Given the description of an element on the screen output the (x, y) to click on. 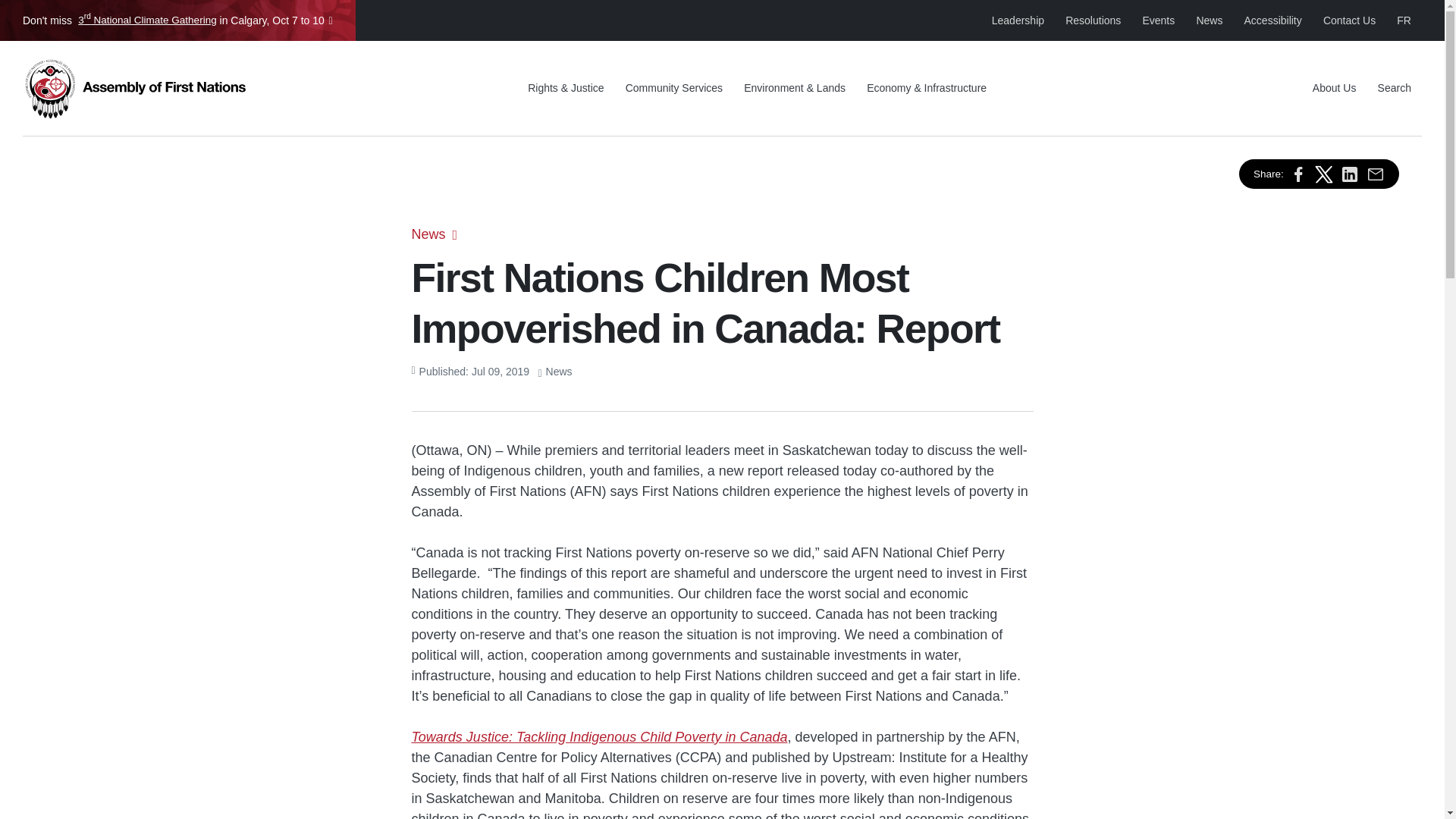
About Us (1334, 88)
Leadership (1017, 20)
Contact Us (1349, 20)
Events (1158, 20)
Resolutions (1092, 20)
Search (1394, 88)
News (1209, 20)
Community Services (673, 88)
Accessibility (1272, 20)
